Given the description of an element on the screen output the (x, y) to click on. 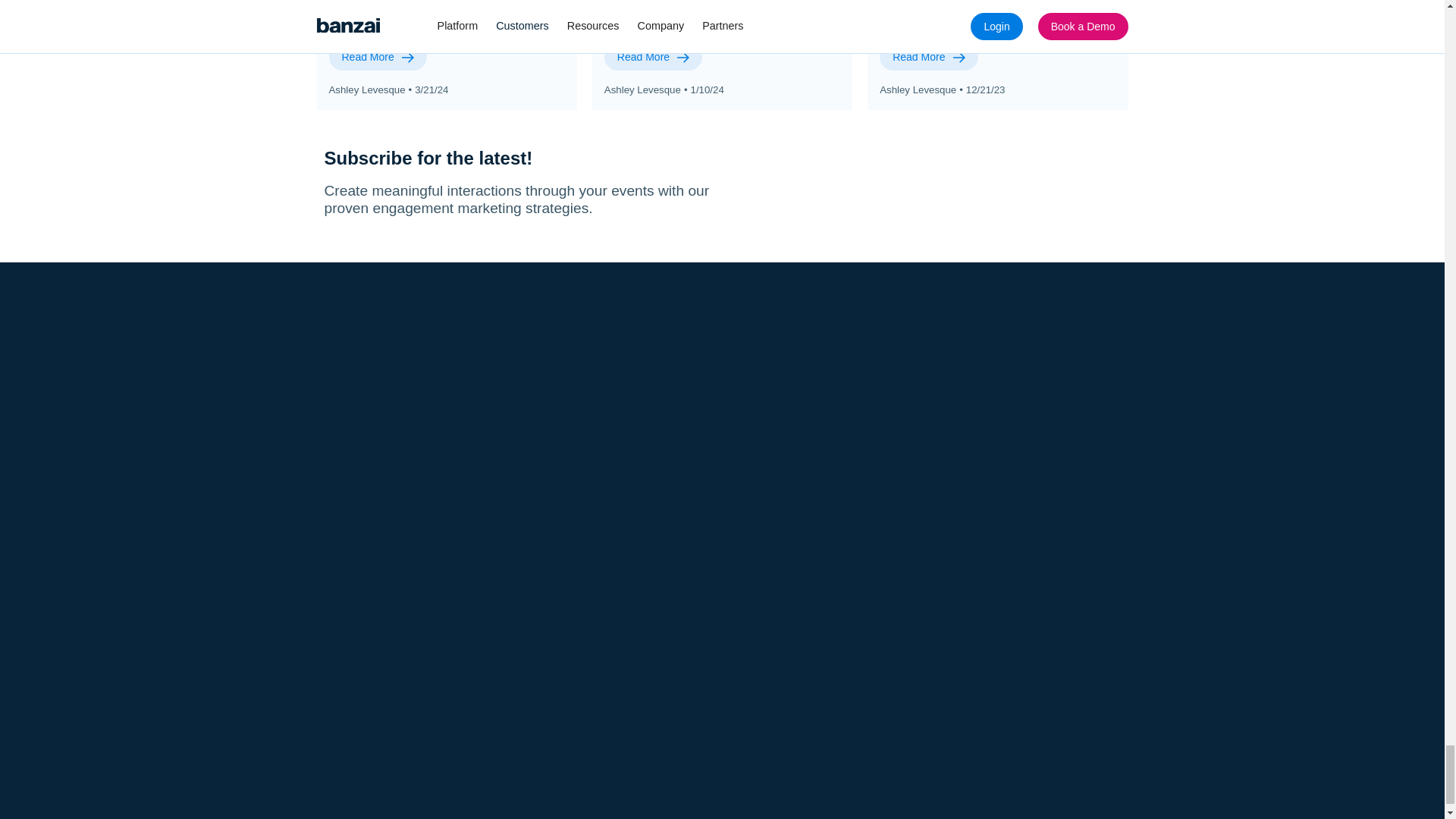
Arrow Right (682, 57)
Arrow Right (407, 57)
Arrow Right (959, 57)
